Given the description of an element on the screen output the (x, y) to click on. 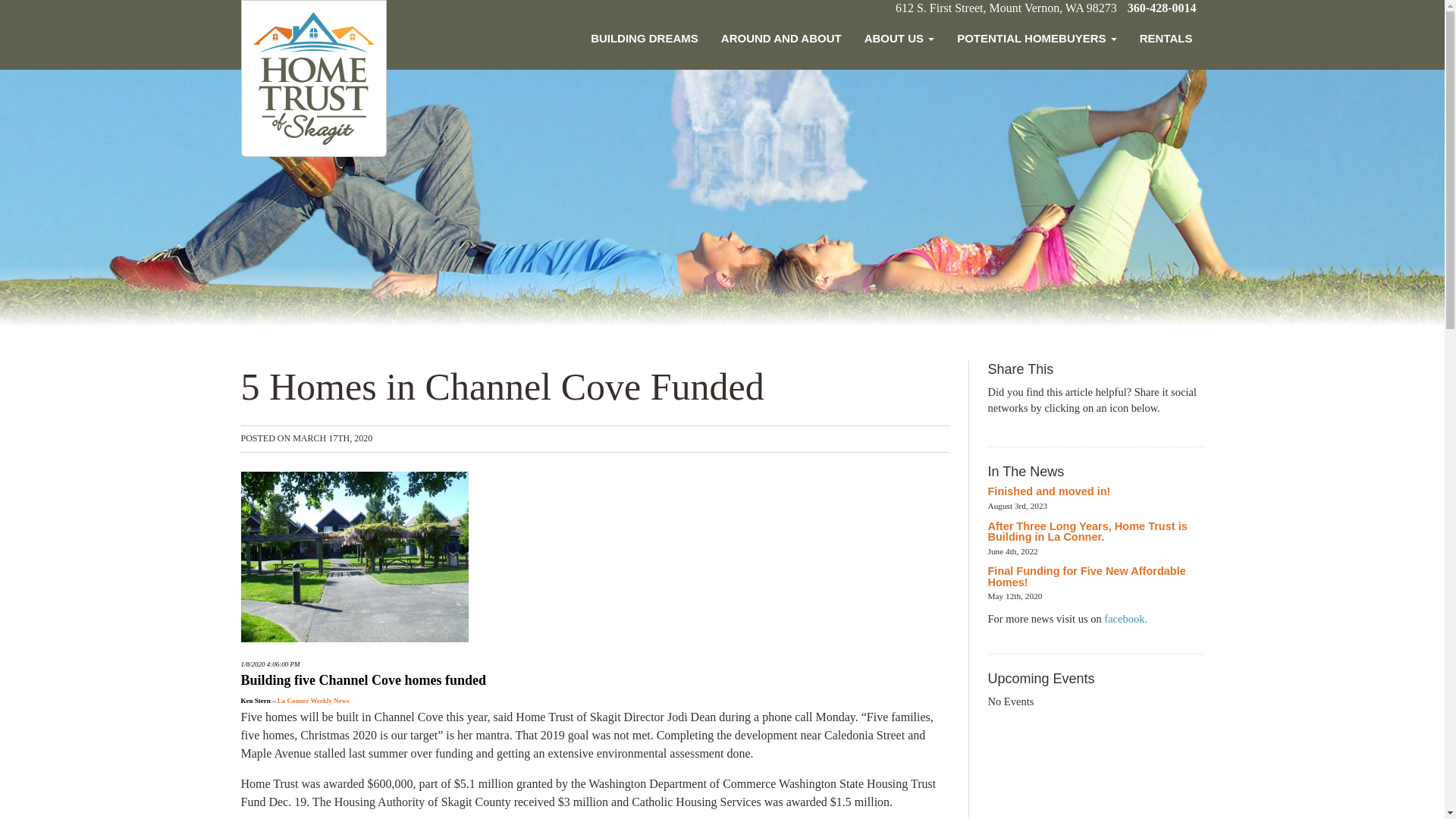
RENTALS (1166, 38)
ABOUT US (899, 38)
Home Trust of Skagit (313, 76)
AROUND AND ABOUT (781, 38)
BUILDING DREAMS (644, 38)
POTENTIAL HOMEBUYERS (1036, 38)
